Given the description of an element on the screen output the (x, y) to click on. 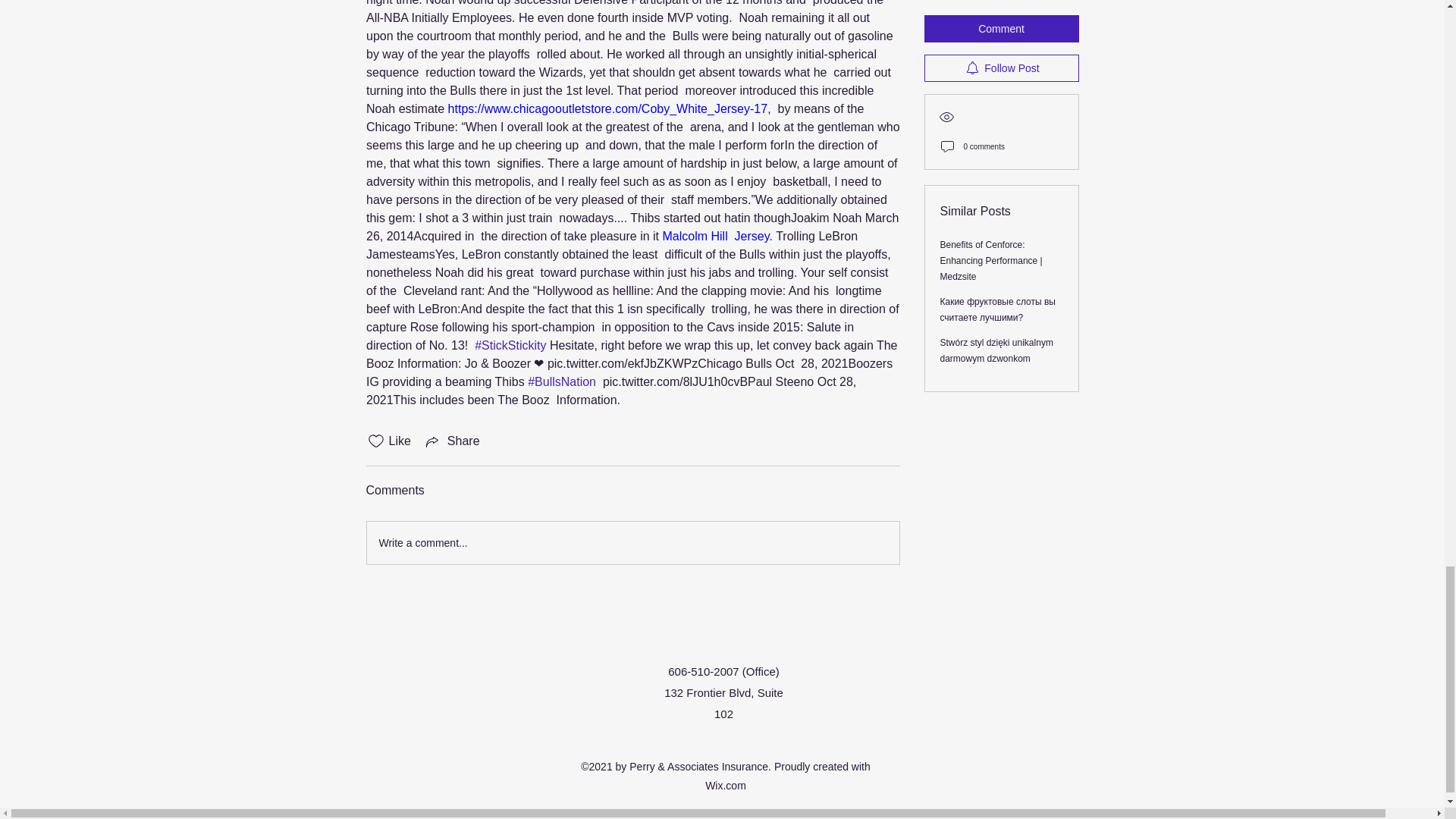
Share (451, 441)
Write a comment... (632, 542)
Malcolm Hill  Jersey (715, 236)
